Given the description of an element on the screen output the (x, y) to click on. 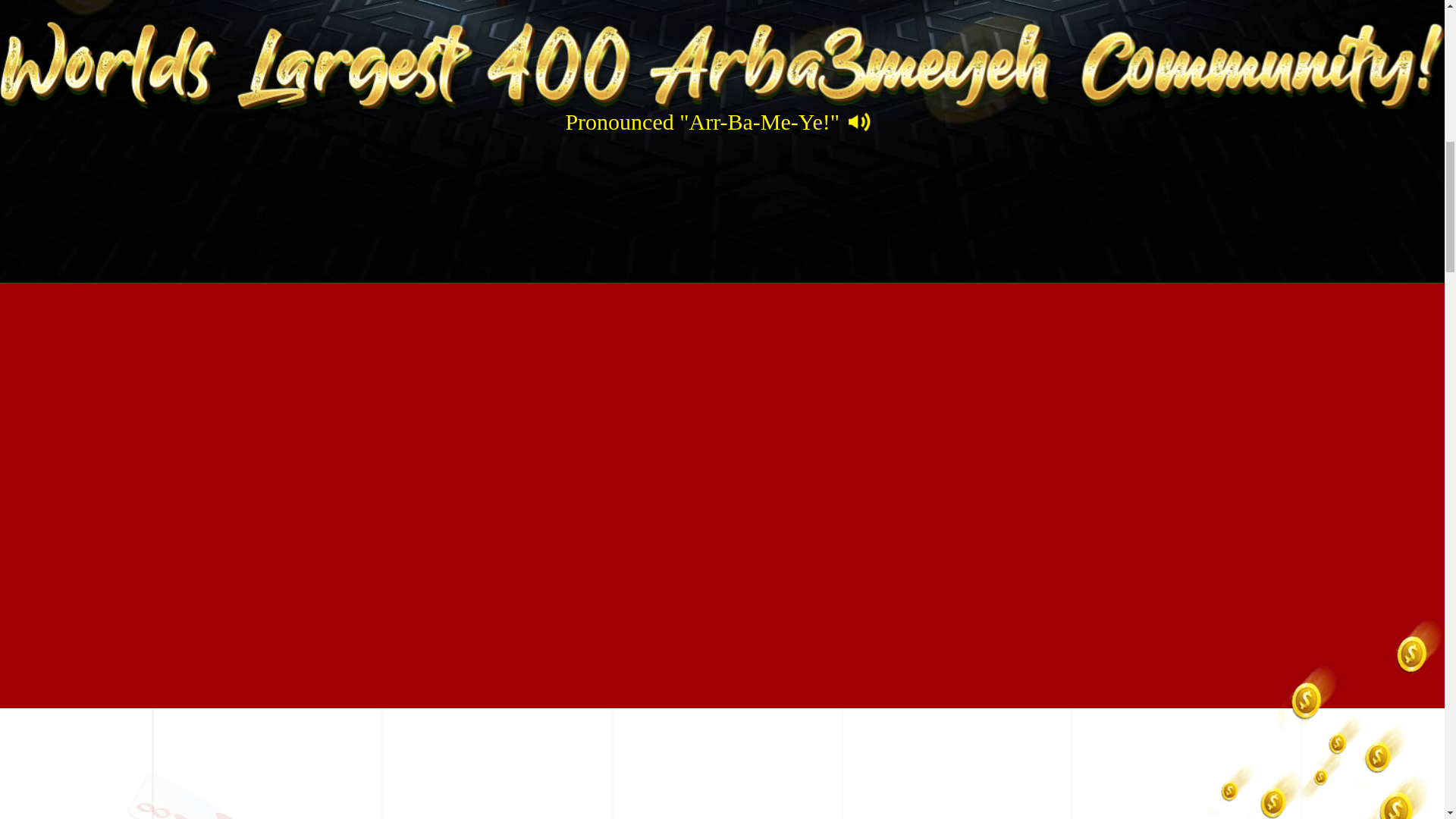
Pronounced "Arr-Ba-Me-Ye!"  (721, 121)
